Given the description of an element on the screen output the (x, y) to click on. 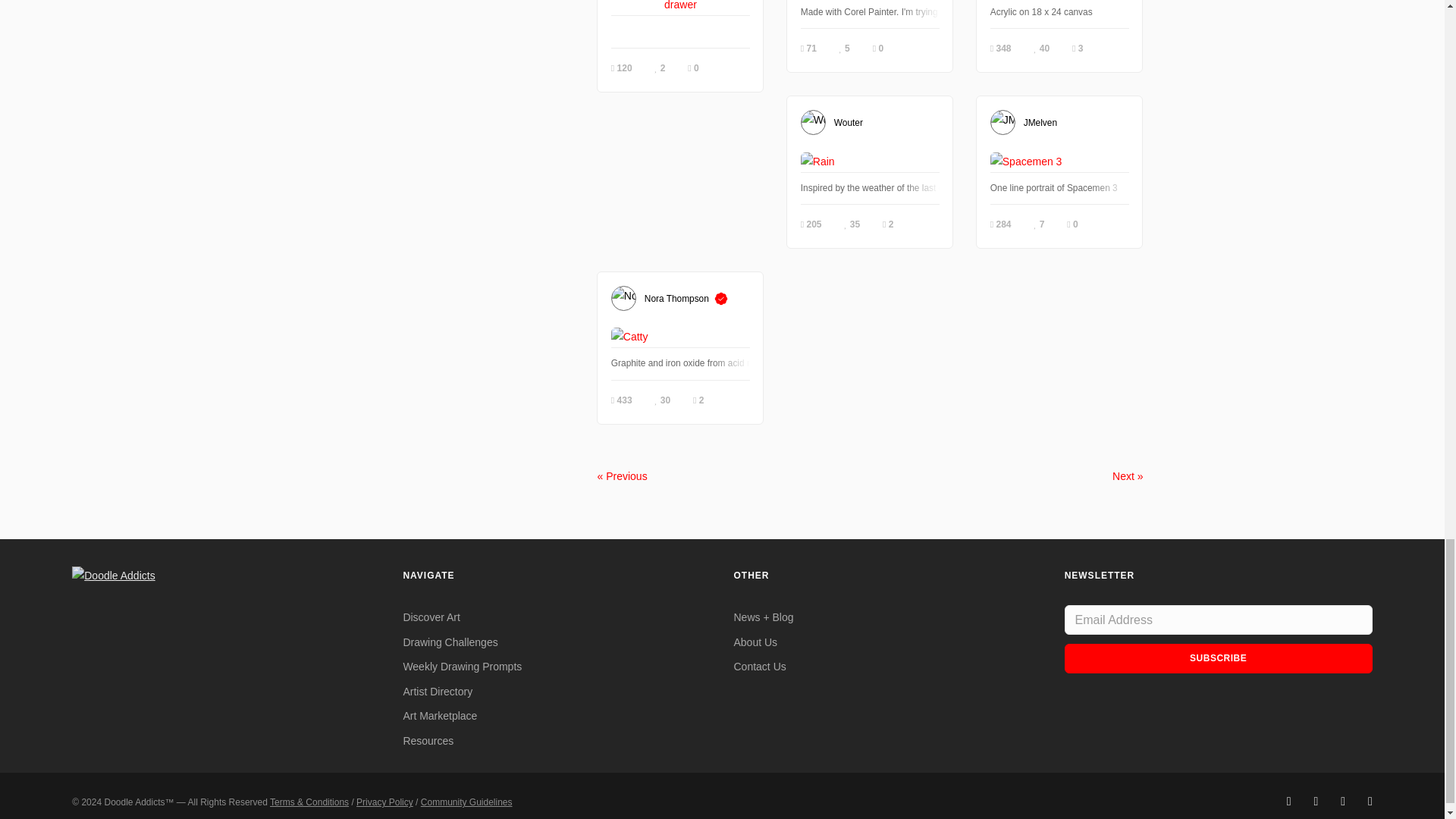
Previous (621, 476)
Next (1127, 476)
